Given the description of an element on the screen output the (x, y) to click on. 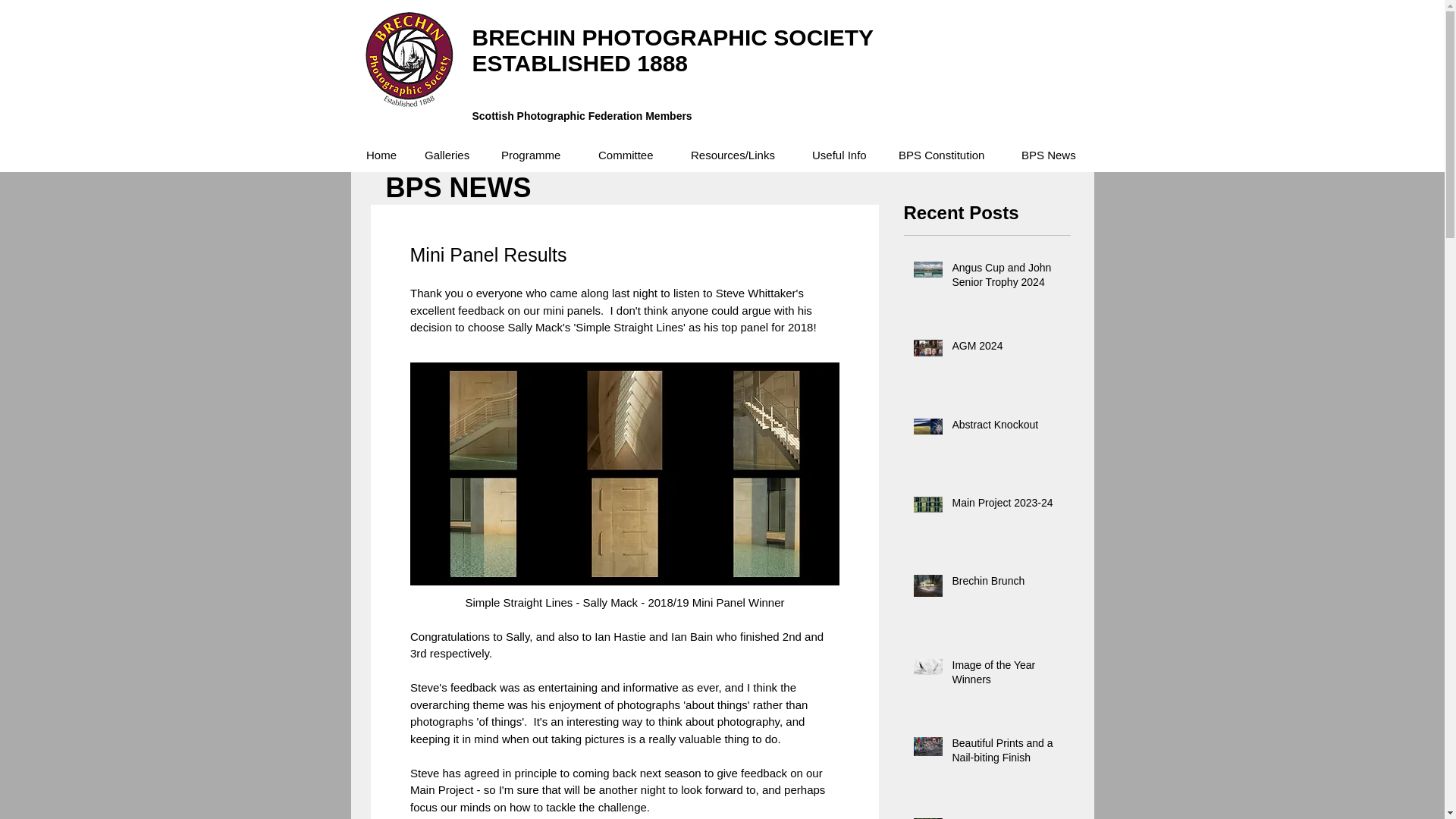
BRECHIN PHOTOGRAPHIC SOCIETY (672, 37)
Home (384, 154)
Galleries (451, 154)
Main Project 2023-24 (1006, 506)
Useful Info (843, 154)
AGM 2024 (1006, 349)
Committee (632, 154)
BPS Constitution (948, 154)
Brechin Brunch (1006, 584)
BPS News (1049, 154)
Image of the Year Winners (1006, 675)
Angus Cup and John Senior Trophy 2024 (1006, 278)
Beautiful Prints and a Nail-biting Finish (1006, 754)
Annual Image Competition Round 3 (1006, 818)
Programme (537, 154)
